Given the description of an element on the screen output the (x, y) to click on. 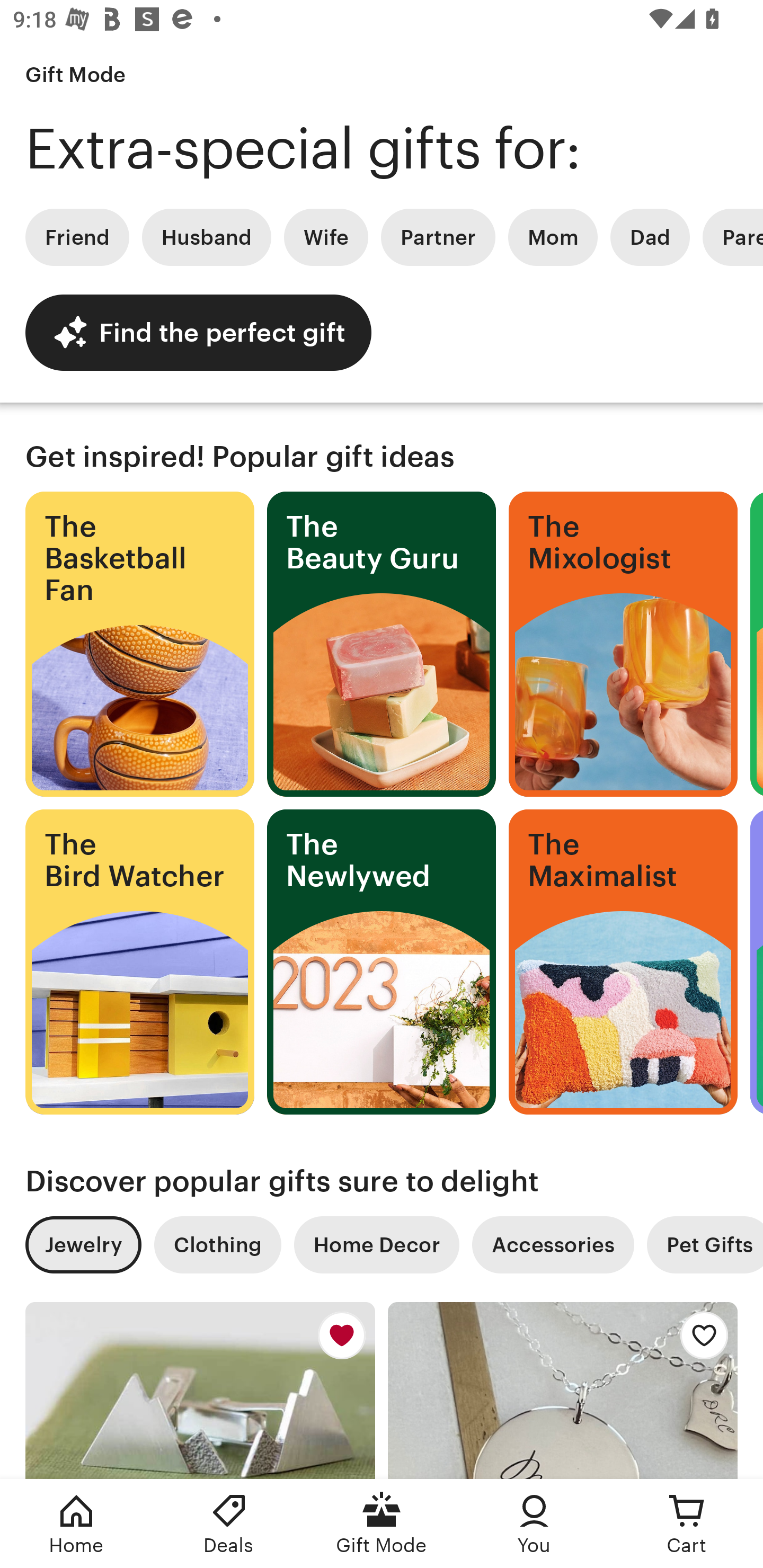
Friend (76, 237)
Husband (206, 237)
Wife (325, 237)
Partner (437, 237)
Mom (552, 237)
Dad (649, 237)
Find the perfect gift (198, 332)
The Basketball Fan (139, 644)
The Beauty Guru (381, 644)
The Mixologist (622, 644)
The Bird Watcher (139, 961)
The Newlywed (381, 961)
The Maximalist (622, 961)
Jewelry (83, 1244)
Clothing (217, 1244)
Home Decor (376, 1244)
Accessories (553, 1244)
Pet Gifts (705, 1244)
Home (76, 1523)
Deals (228, 1523)
You (533, 1523)
Cart (686, 1523)
